Given the description of an element on the screen output the (x, y) to click on. 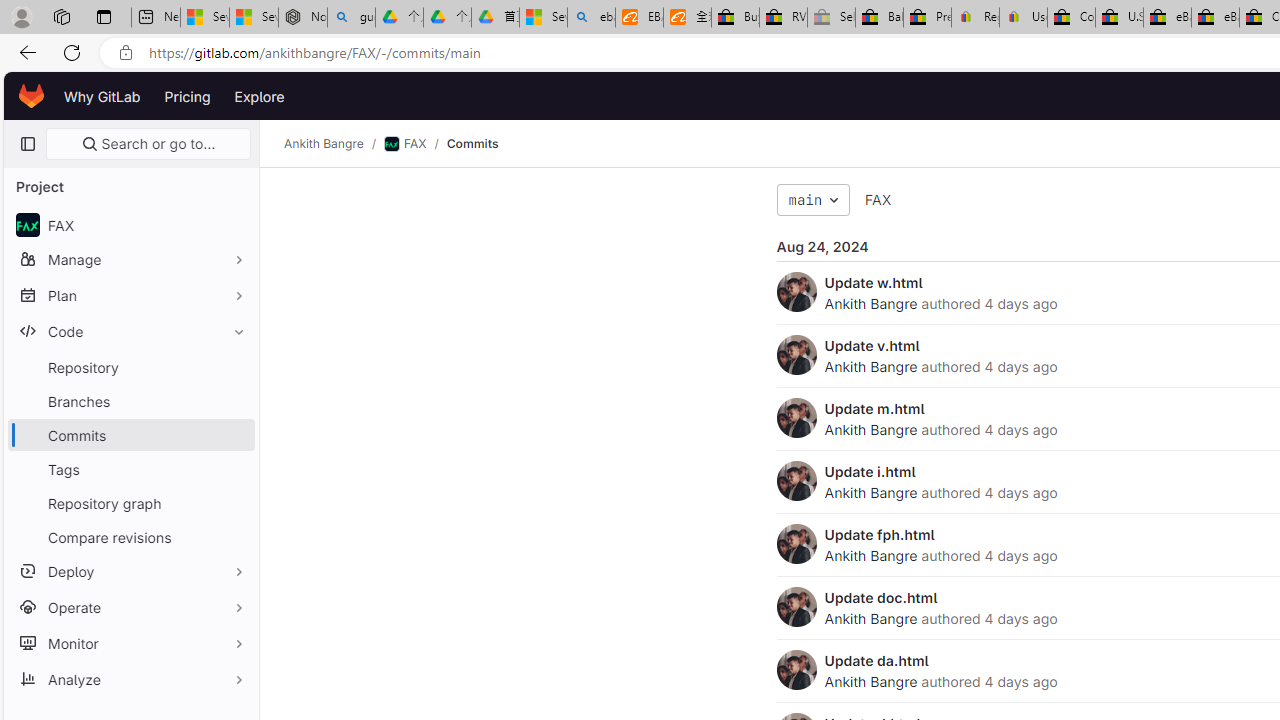
Code (130, 331)
Repository (130, 367)
